Given the description of an element on the screen output the (x, y) to click on. 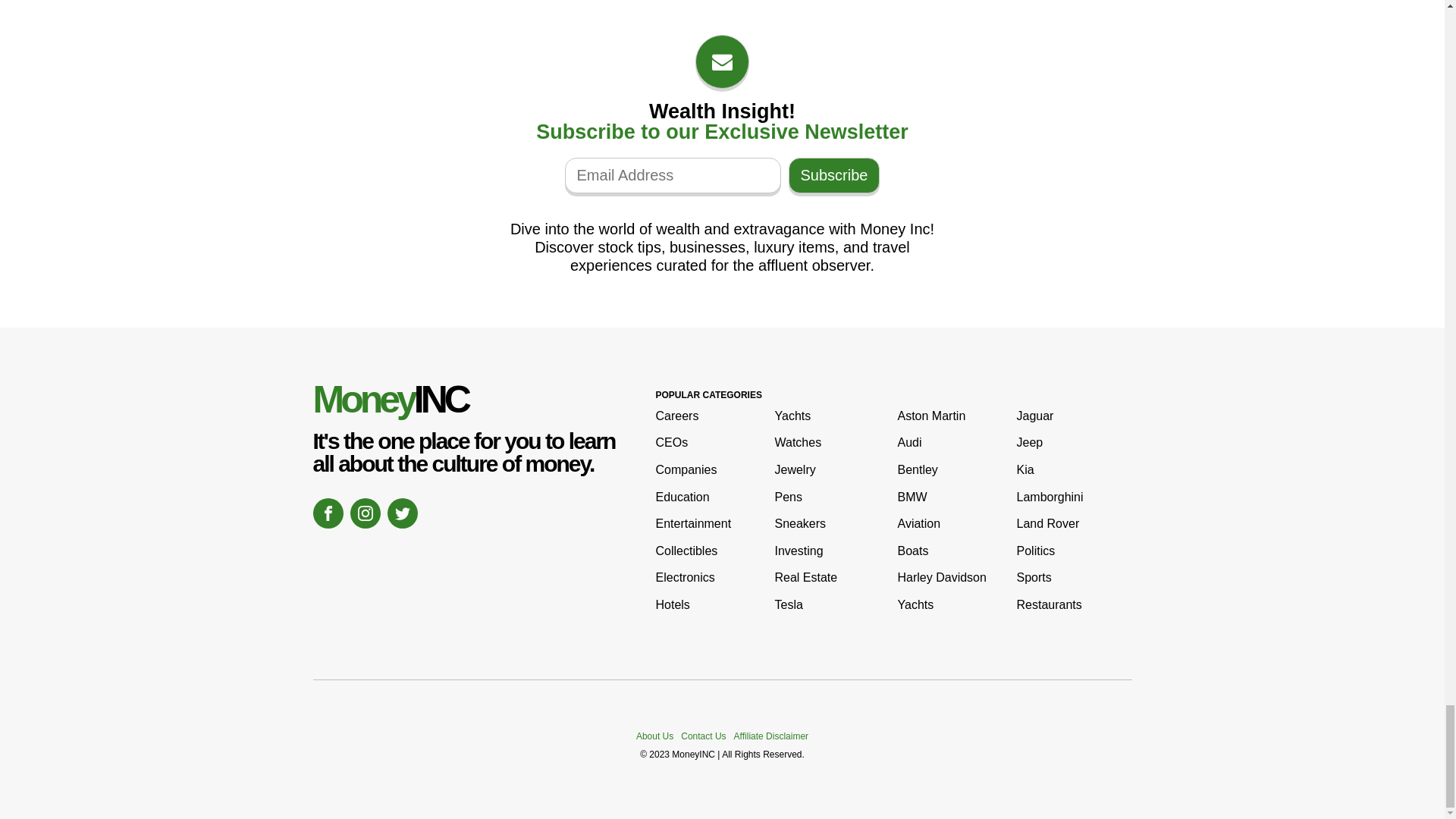
Subscribe (834, 175)
